Given the description of an element on the screen output the (x, y) to click on. 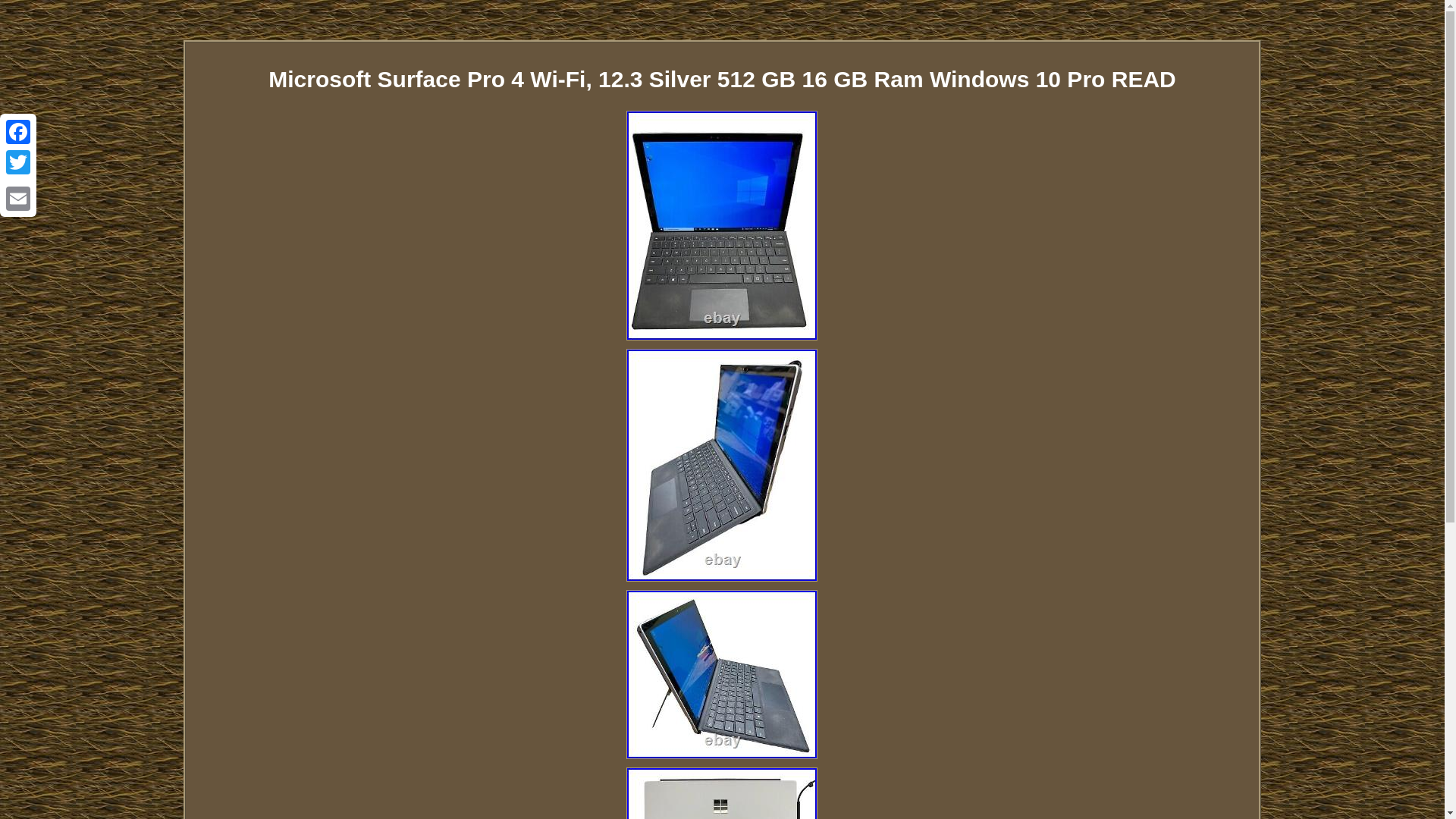
Twitter (17, 162)
Email (17, 198)
Facebook (17, 132)
